Given the description of an element on the screen output the (x, y) to click on. 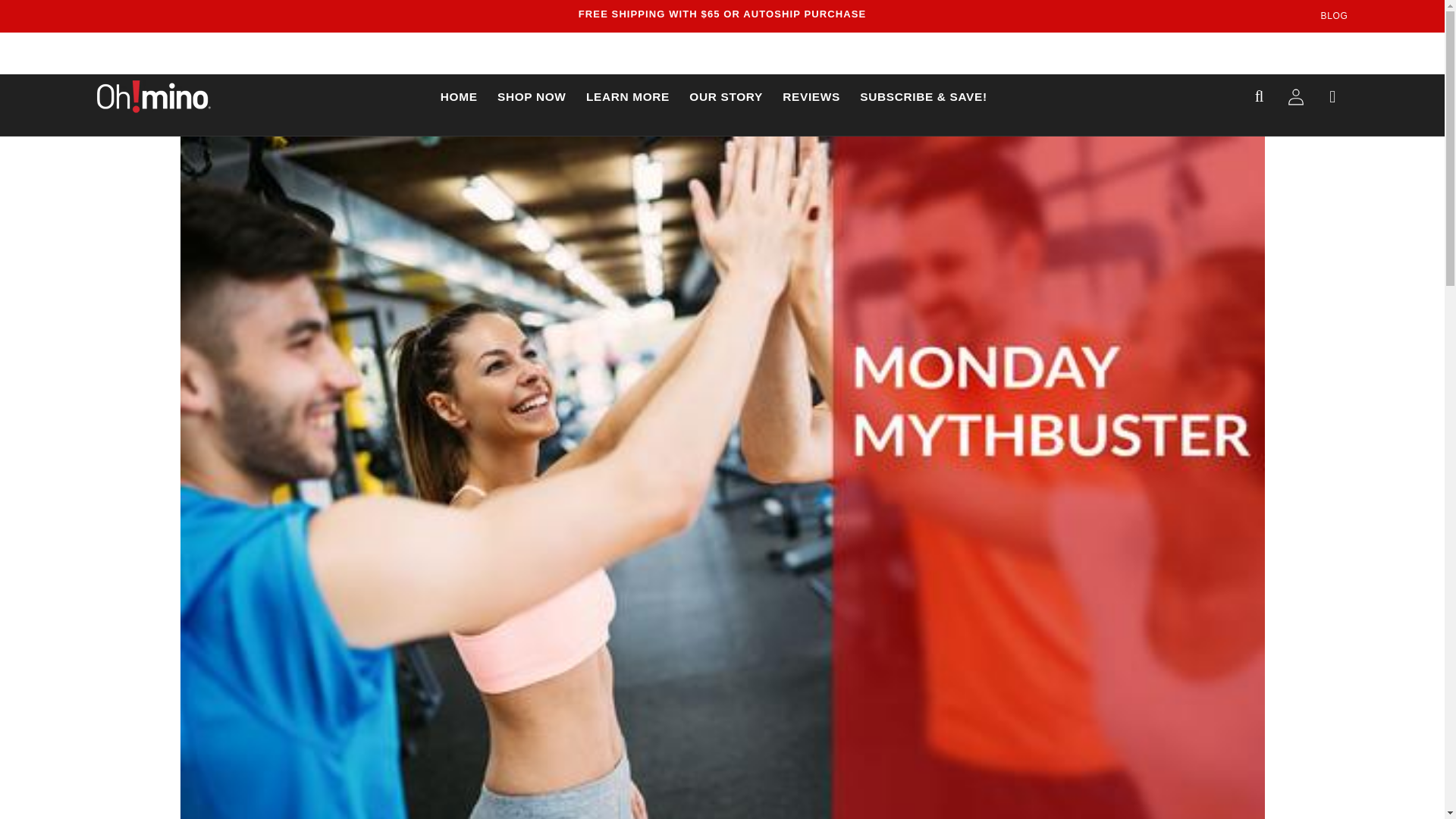
Log in (1296, 95)
Cart (1332, 95)
Skip to content (50, 61)
SHOP NOW (531, 96)
BLOG (1334, 16)
REVIEWS (811, 96)
OUR STORY (726, 96)
LEARN MORE (627, 96)
HOME (458, 96)
